Given the description of an element on the screen output the (x, y) to click on. 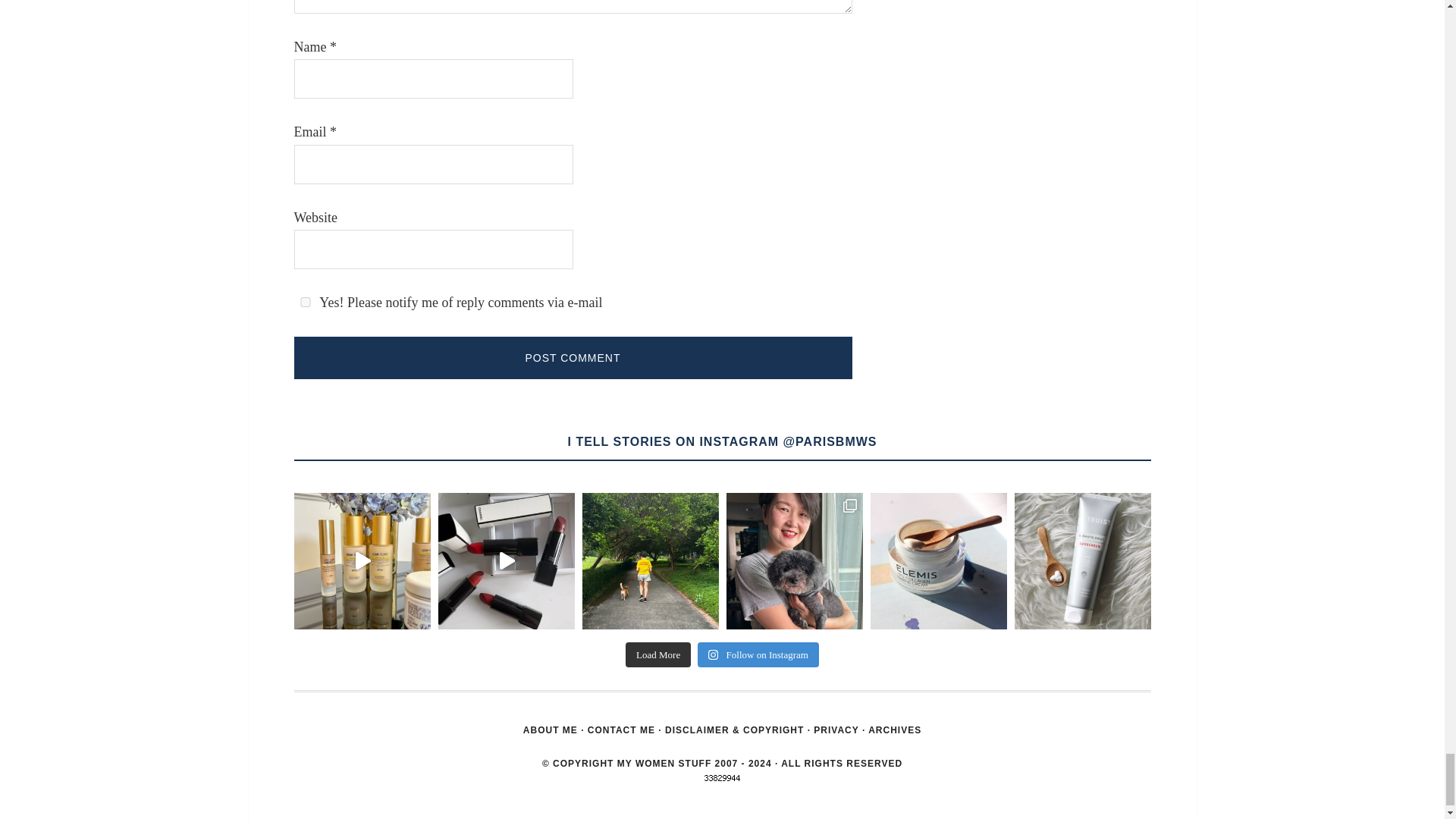
replies (305, 302)
Post Comment (572, 357)
